Given the description of an element on the screen output the (x, y) to click on. 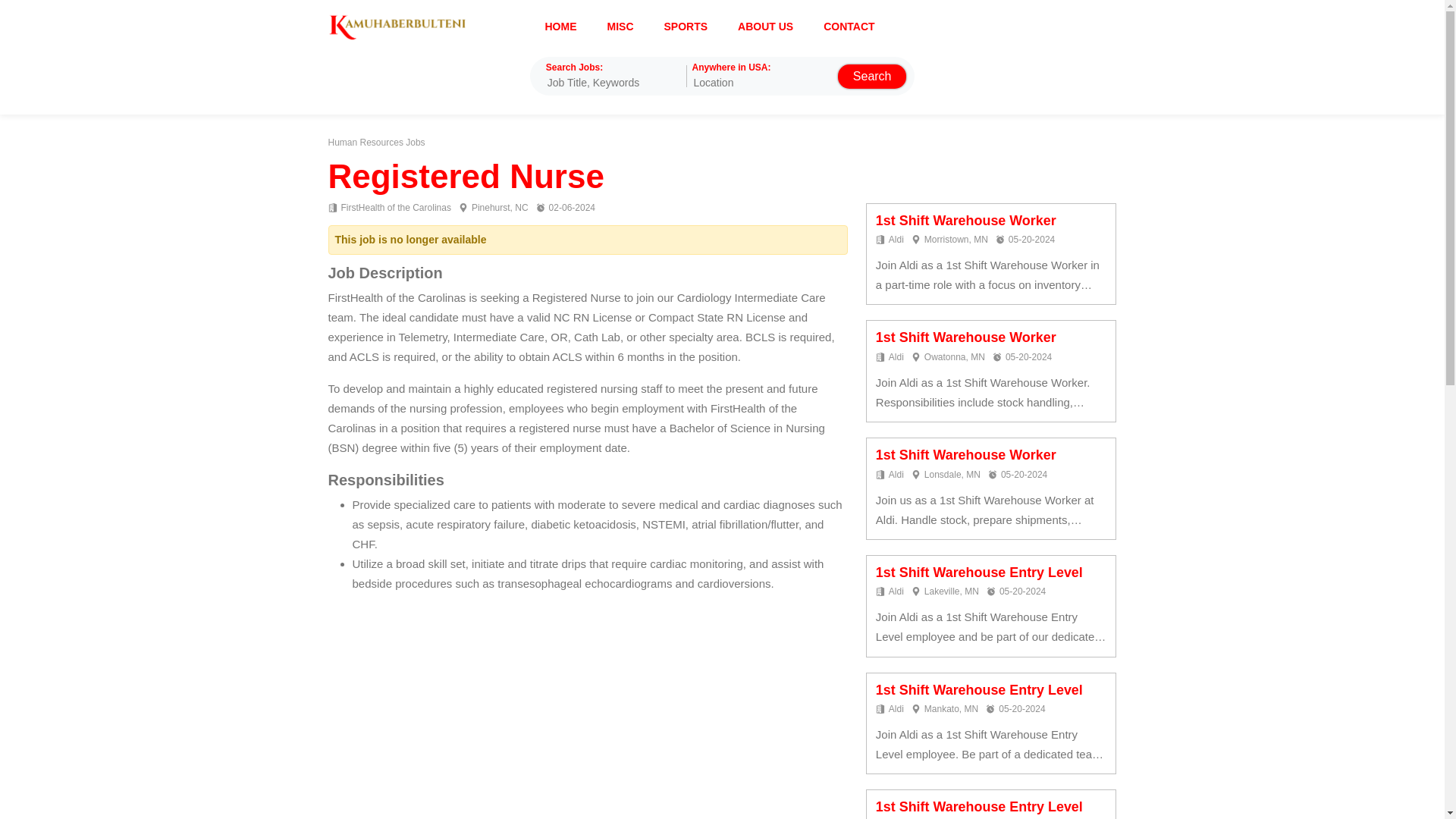
1st Shift Warehouse Worker (966, 220)
Human Resources Jobs (376, 142)
1st Shift Warehouse Entry Level (979, 806)
1st Shift Warehouse Worker (966, 337)
SPORTS (685, 26)
1st Shift Warehouse Entry Level (979, 689)
1st Shift Warehouse Entry Level (979, 572)
Search (871, 75)
HOME (560, 26)
MISC (620, 26)
1st Shift Warehouse Worker (966, 454)
ABOUT US (765, 26)
CONTACT (849, 26)
